Given the description of an element on the screen output the (x, y) to click on. 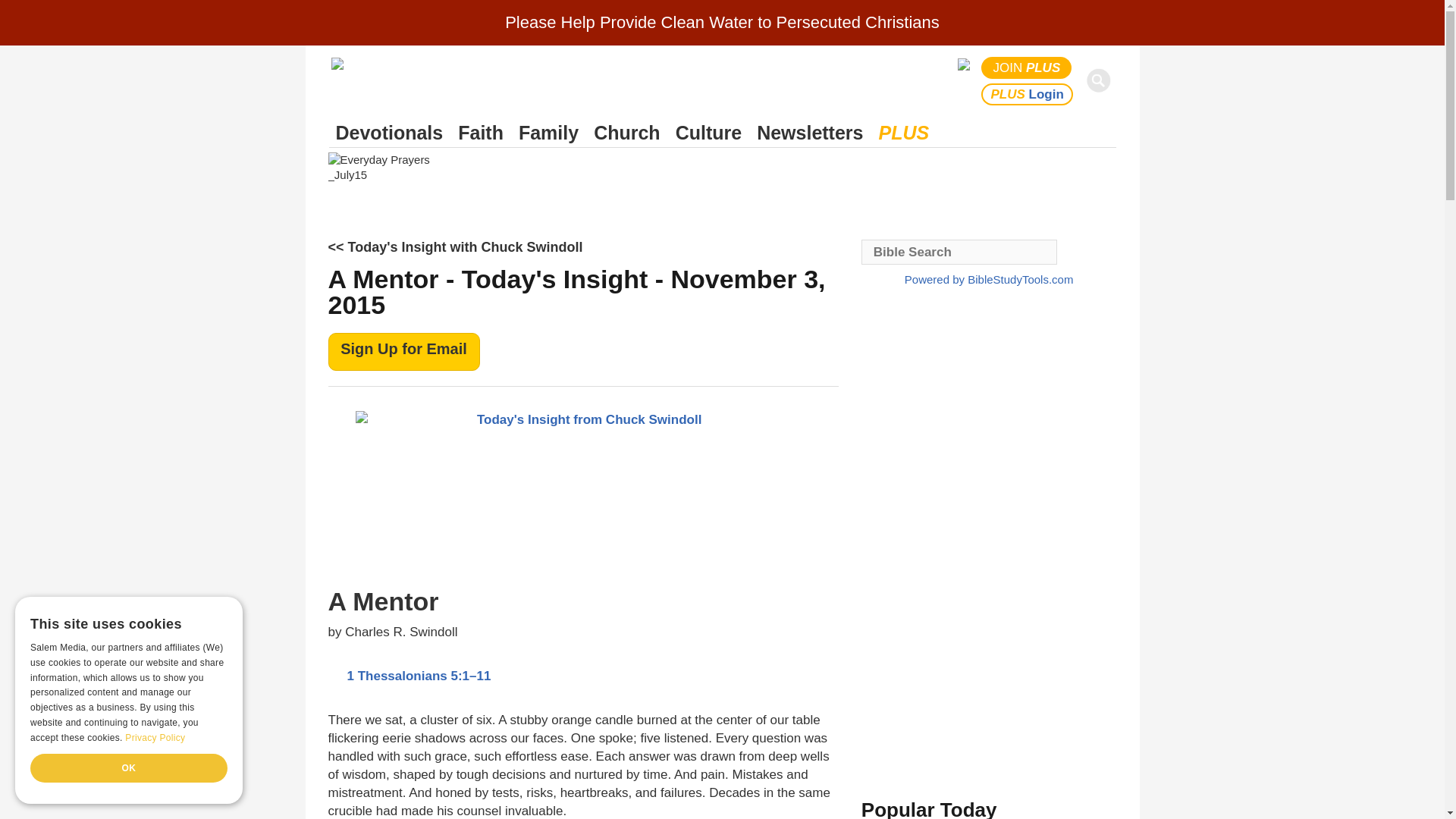
Devotionals (389, 132)
Search (1101, 80)
Plus Login (1026, 94)
PLUS Login (1026, 94)
Join Plus (1026, 67)
JOIN PLUS (1026, 67)
